Given the description of an element on the screen output the (x, y) to click on. 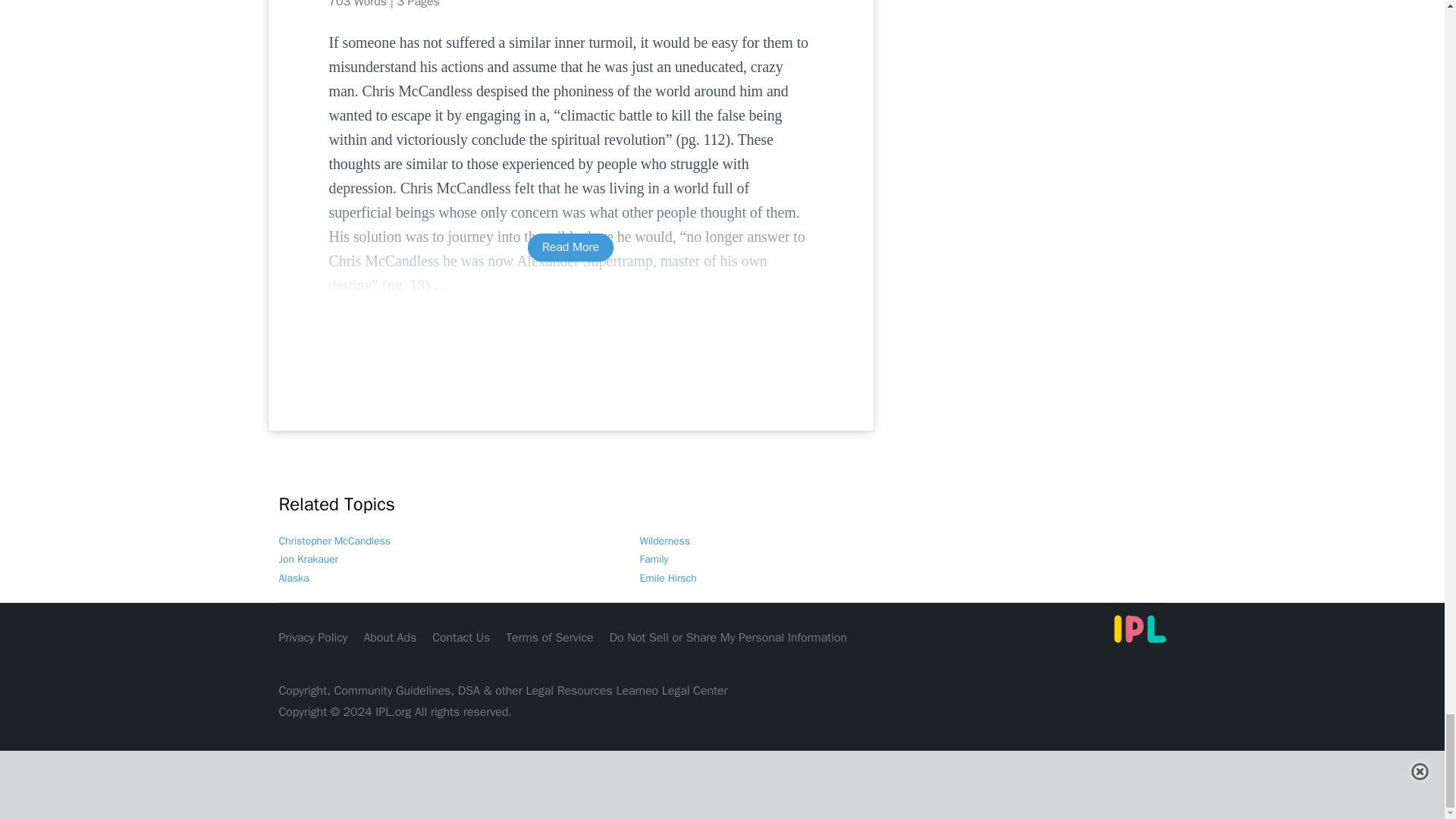
Wilderness (665, 540)
Privacy Policy (313, 637)
Contact Us (460, 637)
Alaska (293, 577)
Terms of Service (548, 637)
Jon Krakauer (308, 558)
About Ads (389, 637)
Christopher McCandless (334, 540)
Emile Hirsch (668, 577)
Family (654, 558)
